Given the description of an element on the screen output the (x, y) to click on. 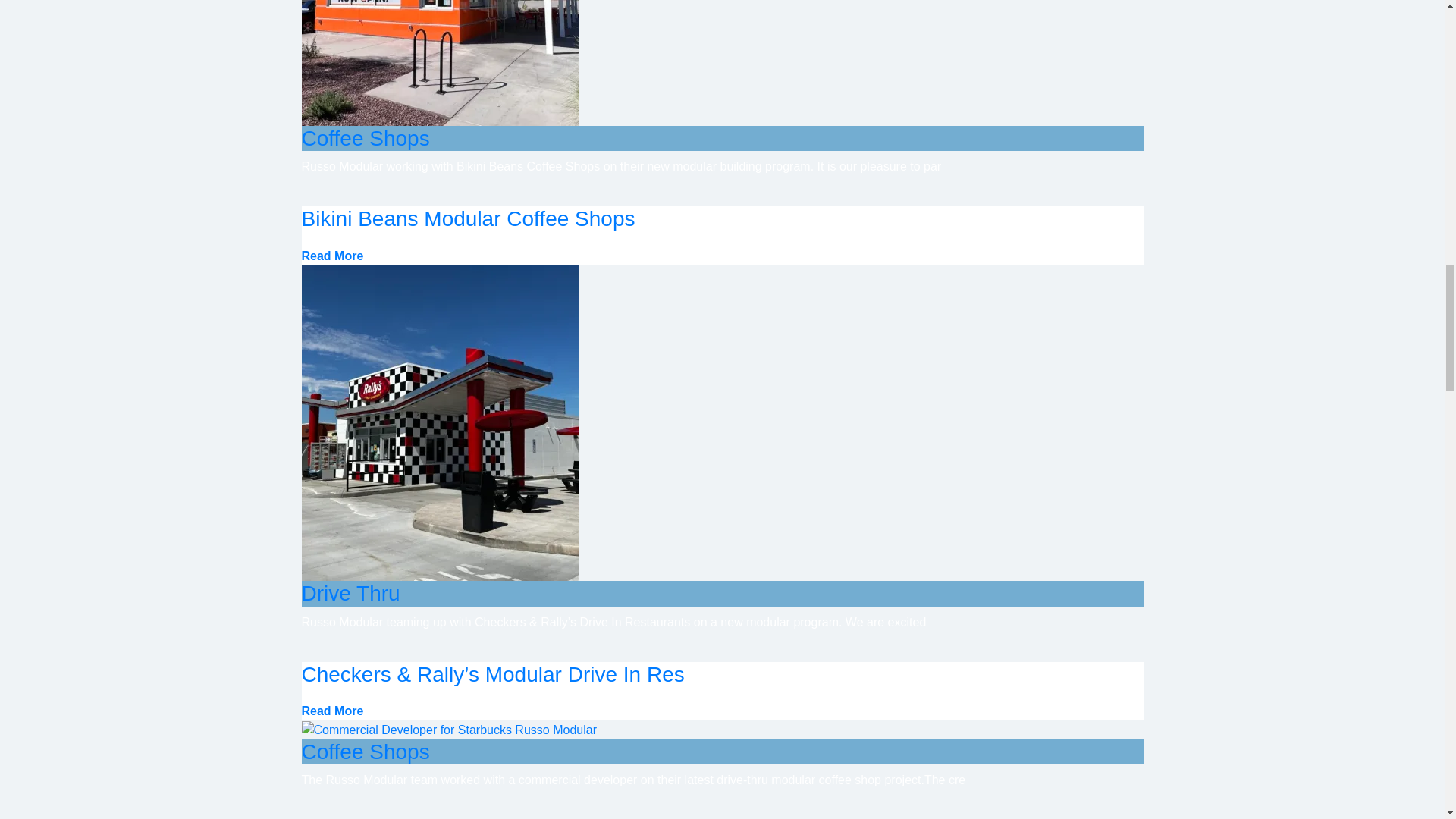
Coffee Shops (365, 137)
Coffee Shops (365, 751)
Read More (332, 710)
Drive Thru (350, 593)
Bikini Beans Modular Coffee Shops (467, 218)
Read More (332, 256)
